Given the description of an element on the screen output the (x, y) to click on. 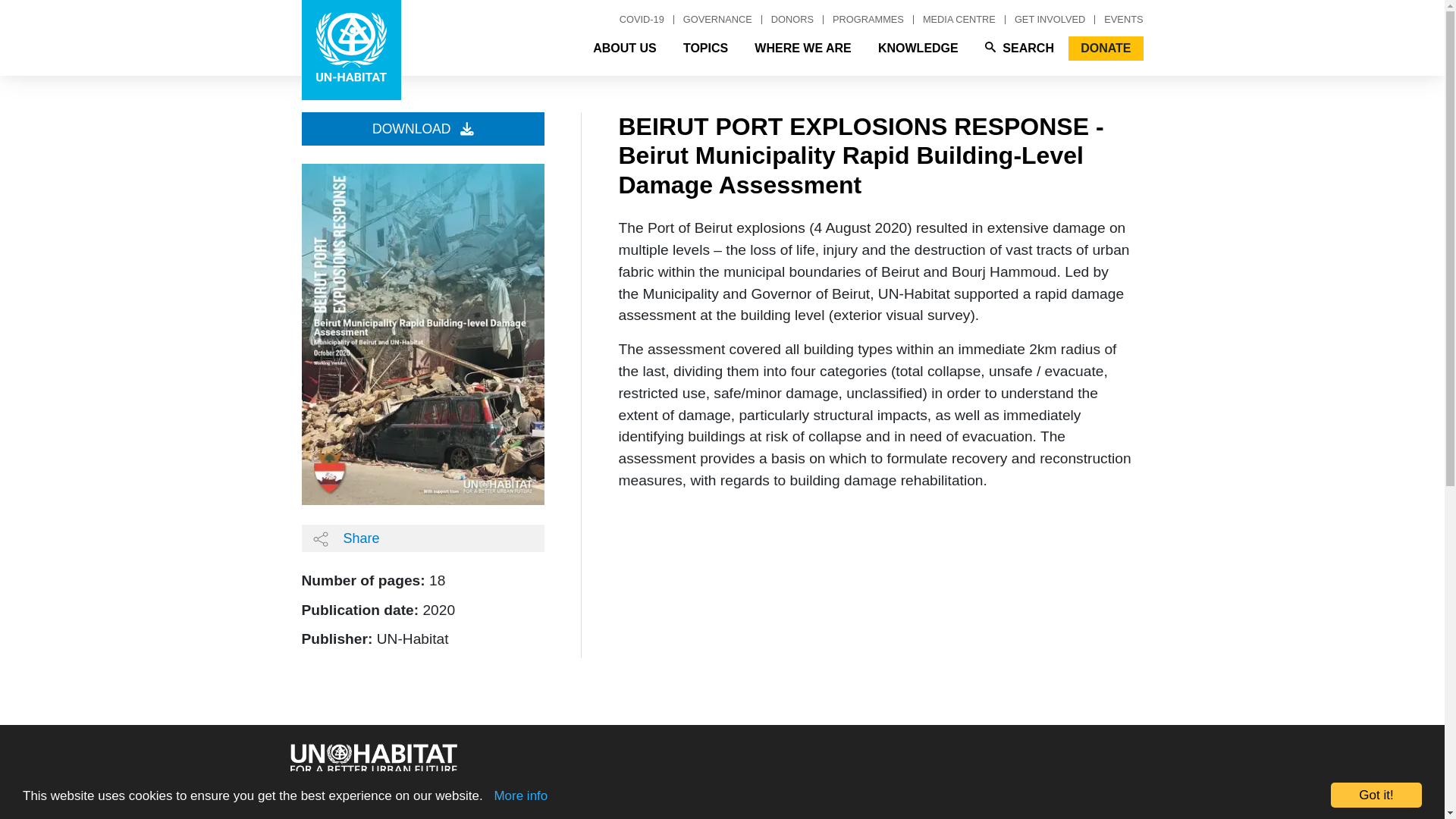
Home (351, 49)
